Given the description of an element on the screen output the (x, y) to click on. 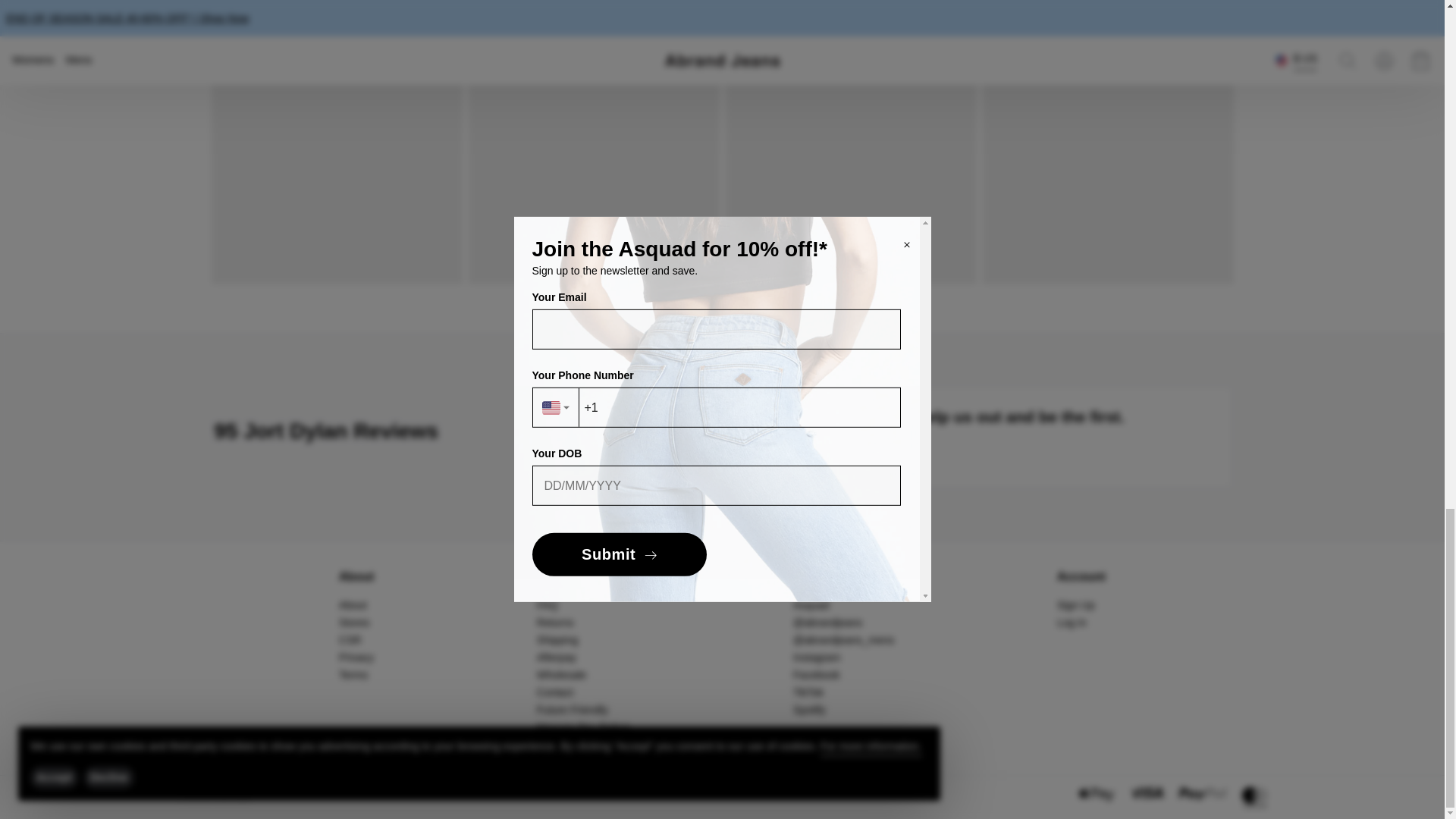
About (352, 604)
Spotify (809, 709)
Future Friendly (572, 709)
Privacy (356, 657)
Asquad (810, 604)
TikTok (808, 692)
Instagram (816, 657)
Stores (354, 622)
Returns (555, 622)
Facebook (816, 674)
FAQ (547, 604)
Contact (555, 692)
Wholesale (561, 674)
Terms (353, 674)
Manage Pre-Orders (583, 727)
